Given the description of an element on the screen output the (x, y) to click on. 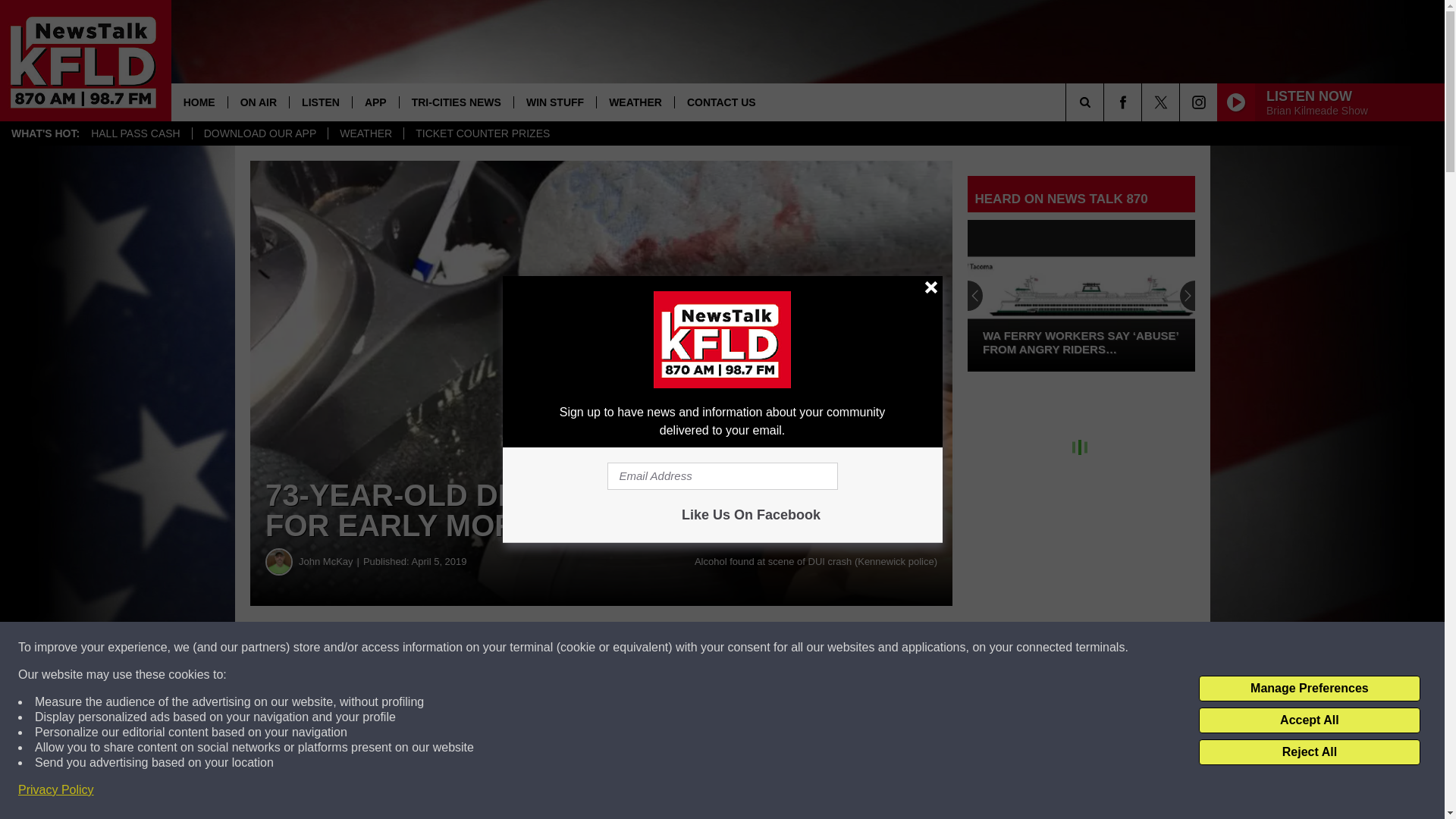
ON AIR (257, 102)
LISTEN (320, 102)
Reject All (1309, 751)
Manage Preferences (1309, 688)
Privacy Policy (55, 789)
SEARCH (1106, 102)
APP (375, 102)
Email Address (722, 475)
Share on Twitter (741, 647)
HALL PASS CASH (136, 133)
Share on Facebook (460, 647)
WEATHER (365, 133)
HOME (199, 102)
SEARCH (1106, 102)
TICKET COUNTER PRIZES (481, 133)
